Given the description of an element on the screen output the (x, y) to click on. 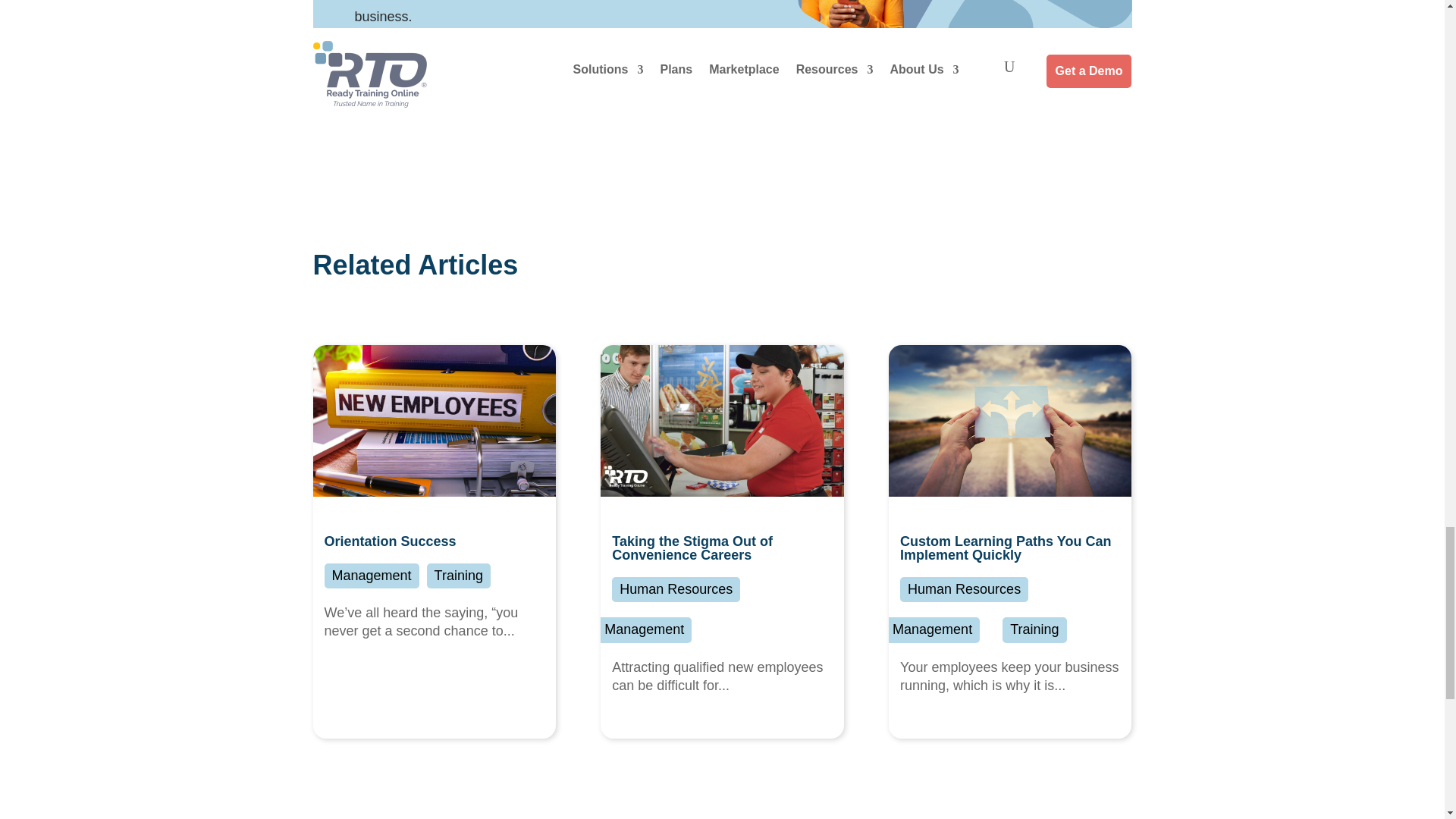
blog-post-cta-image (963, 39)
